Given the description of an element on the screen output the (x, y) to click on. 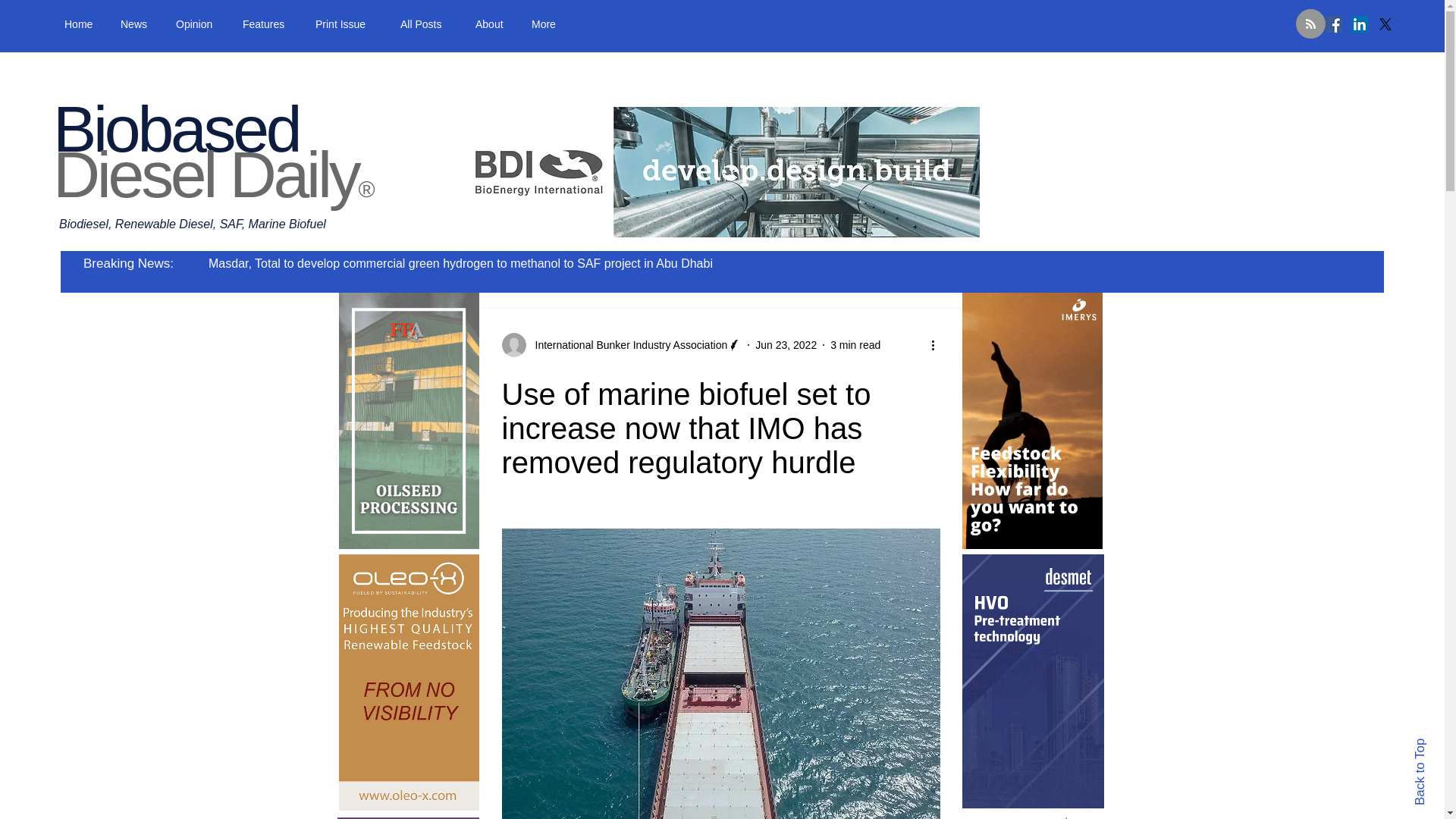
All Posts (426, 24)
Topsoe (1031, 818)
Jun 23, 2022 (785, 344)
Biobased (175, 128)
Features (267, 24)
About (491, 24)
International Bunker Industry Association (626, 344)
Home (80, 24)
Imerys (1031, 420)
Opinion (197, 24)
BDI-BioEnergy International (718, 172)
Print Issue (346, 24)
News (136, 24)
Diesel Daily (205, 174)
3 min read (854, 344)
